Given the description of an element on the screen output the (x, y) to click on. 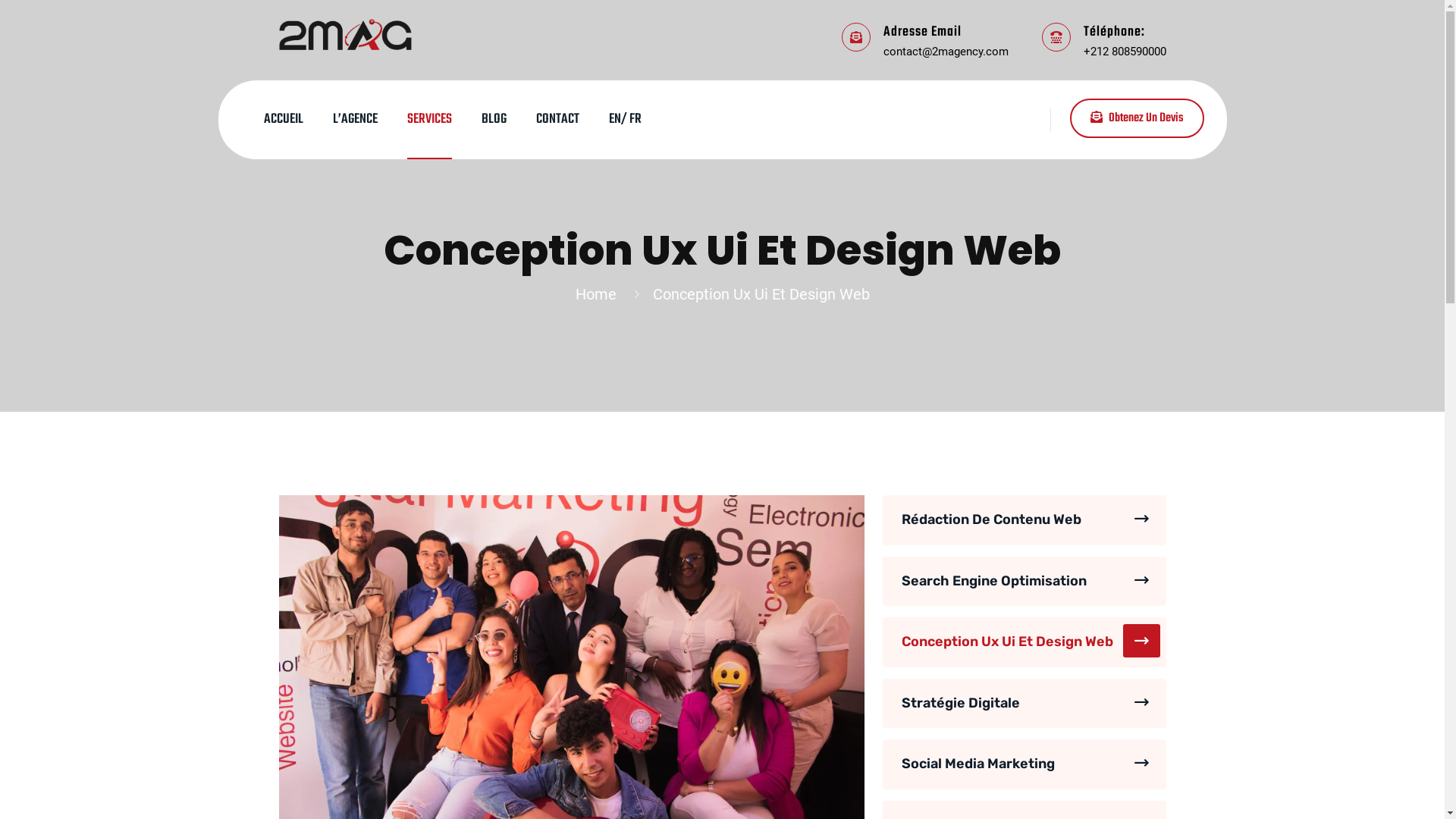
CONTACT Element type: text (556, 119)
contact@2magency.com Element type: text (944, 50)
Conception Ux Ui Et Design Web Element type: text (1024, 642)
+212 808590000 Element type: text (1123, 50)
Social Media Marketing Element type: text (1024, 764)
EN/ FR Element type: text (624, 119)
SERVICES Element type: text (428, 119)
Obtenez Un Devis Element type: text (1136, 118)
Home   Element type: text (598, 294)
ACCUEIL Element type: text (283, 119)
2MAG Agence Digitale Element type: hover (345, 33)
Search Engine Optimisation Element type: text (1024, 581)
BLOG Element type: text (492, 119)
